Given the description of an element on the screen output the (x, y) to click on. 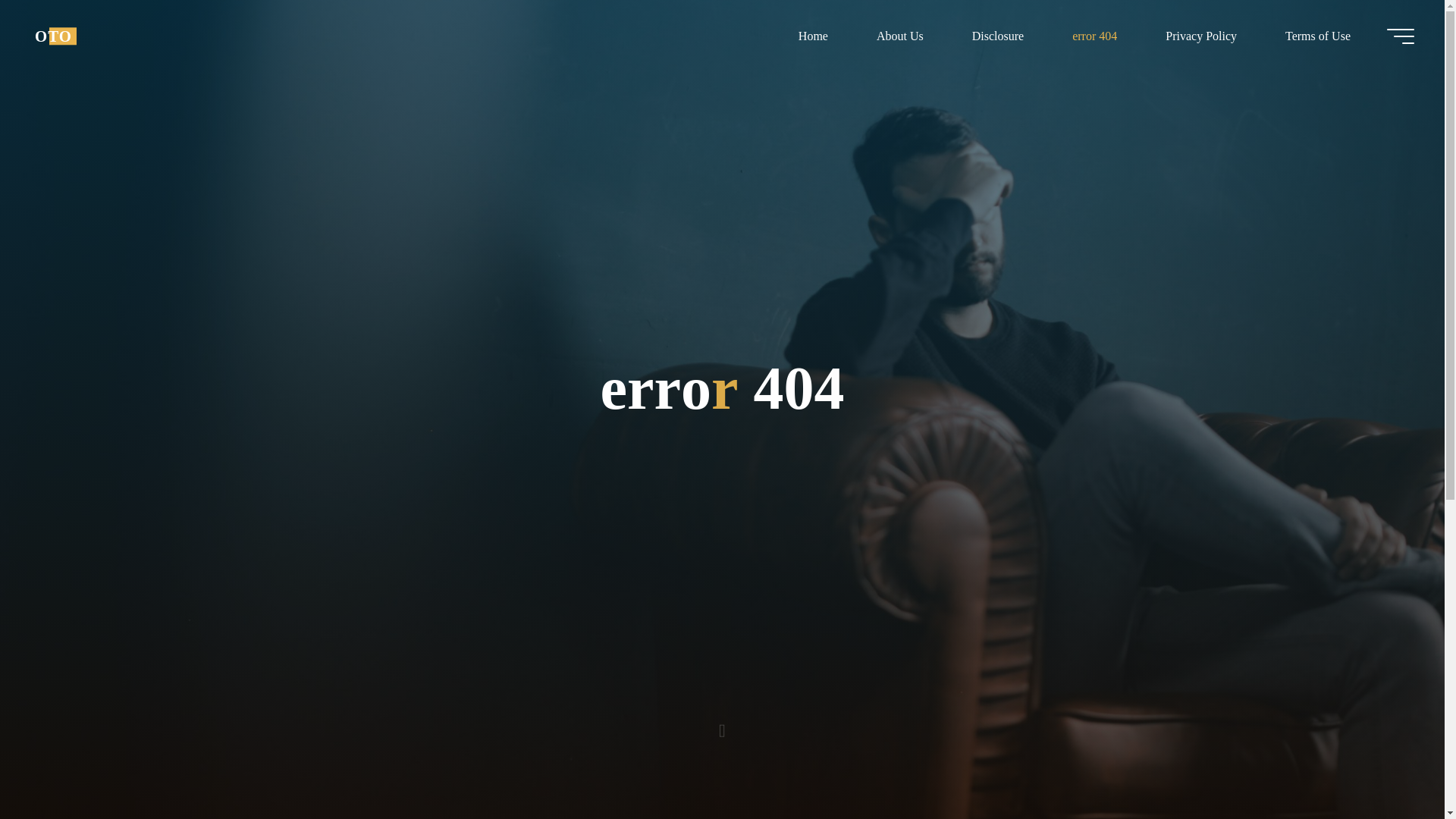
Disclosure (997, 35)
OTO (53, 36)
Home (812, 35)
About Us (899, 35)
error 404 (1094, 35)
Read more (721, 724)
Privacy Policy (1200, 35)
Terms of Use (1317, 35)
